Given the description of an element on the screen output the (x, y) to click on. 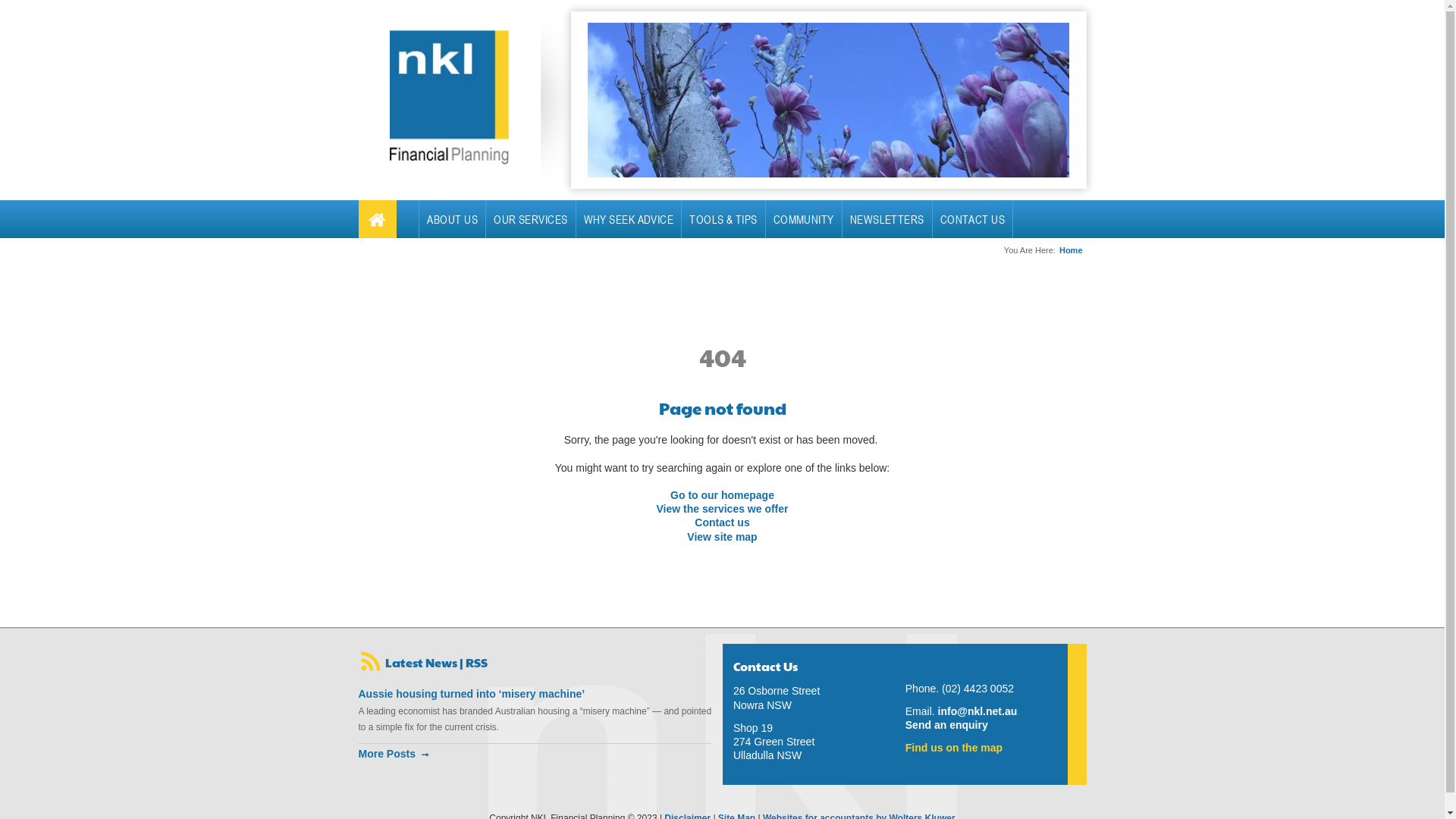
NEWSLETTERS Element type: text (886, 219)
Find us on the map Element type: text (953, 747)
TOOLS & TIPS Element type: text (722, 219)
View site map Element type: text (721, 536)
More Posts Element type: text (534, 757)
View the services we offer Element type: text (721, 508)
CONTACT US Element type: text (972, 219)
Contact us Element type: text (721, 522)
ABOUT US Element type: text (452, 219)
Send an enquiry Element type: text (946, 724)
NKL Financial Planning, Nowra, NSW,  Australia Element type: hover (448, 97)
COMMUNITY Element type: text (803, 219)
home Element type: text (376, 219)
Go to our homepage Element type: text (722, 495)
info@nkl.net.au Element type: text (977, 711)
OUR SERVICES Element type: text (530, 219)
WHY SEEK ADVICE Element type: text (628, 219)
Home Element type: text (1070, 249)
